Given the description of an element on the screen output the (x, y) to click on. 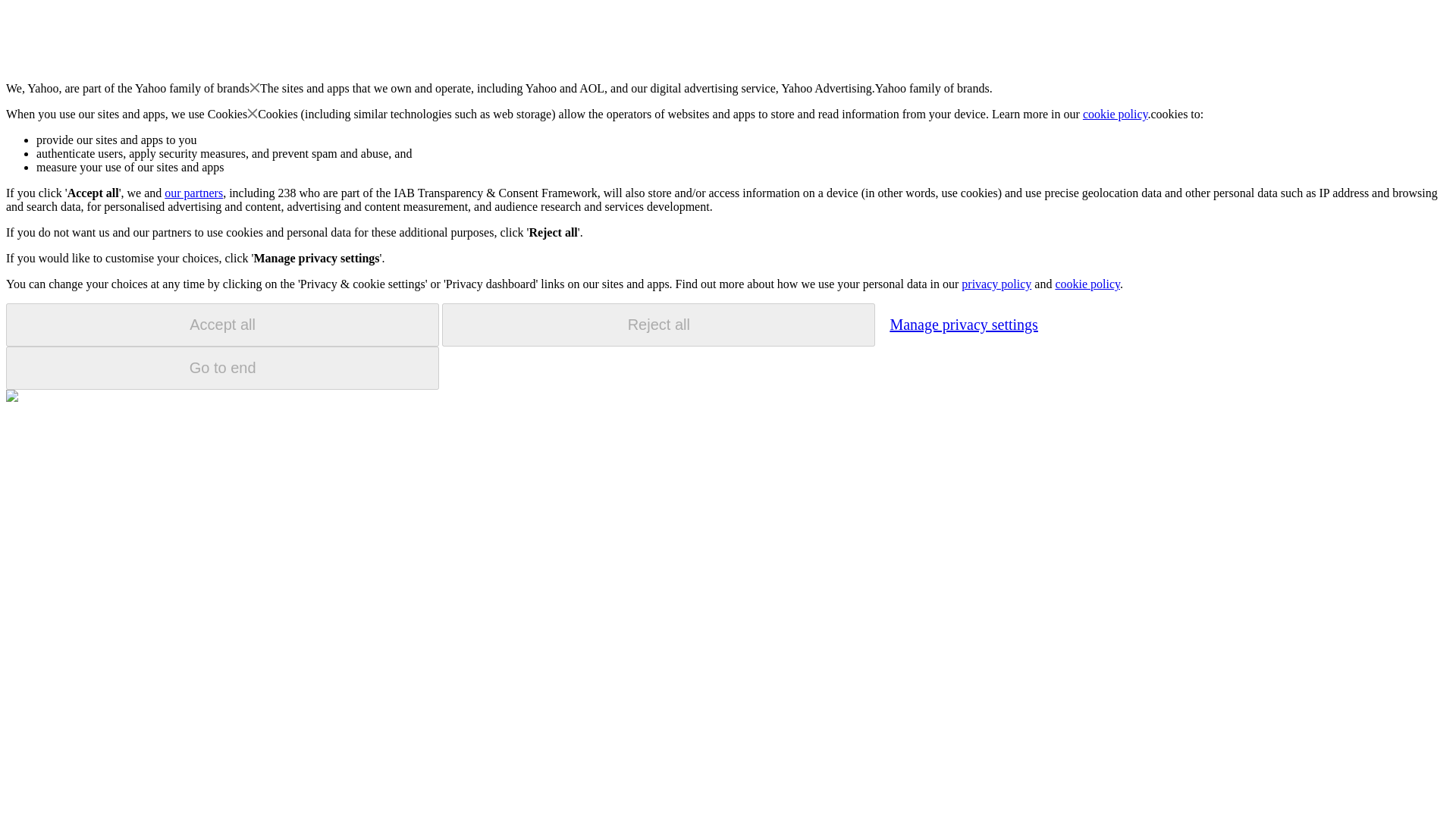
Go to end (222, 367)
Manage privacy settings (963, 323)
Accept all (222, 324)
Reject all (658, 324)
our partners (193, 192)
cookie policy (1115, 113)
cookie policy (1086, 283)
privacy policy (995, 283)
